Given the description of an element on the screen output the (x, y) to click on. 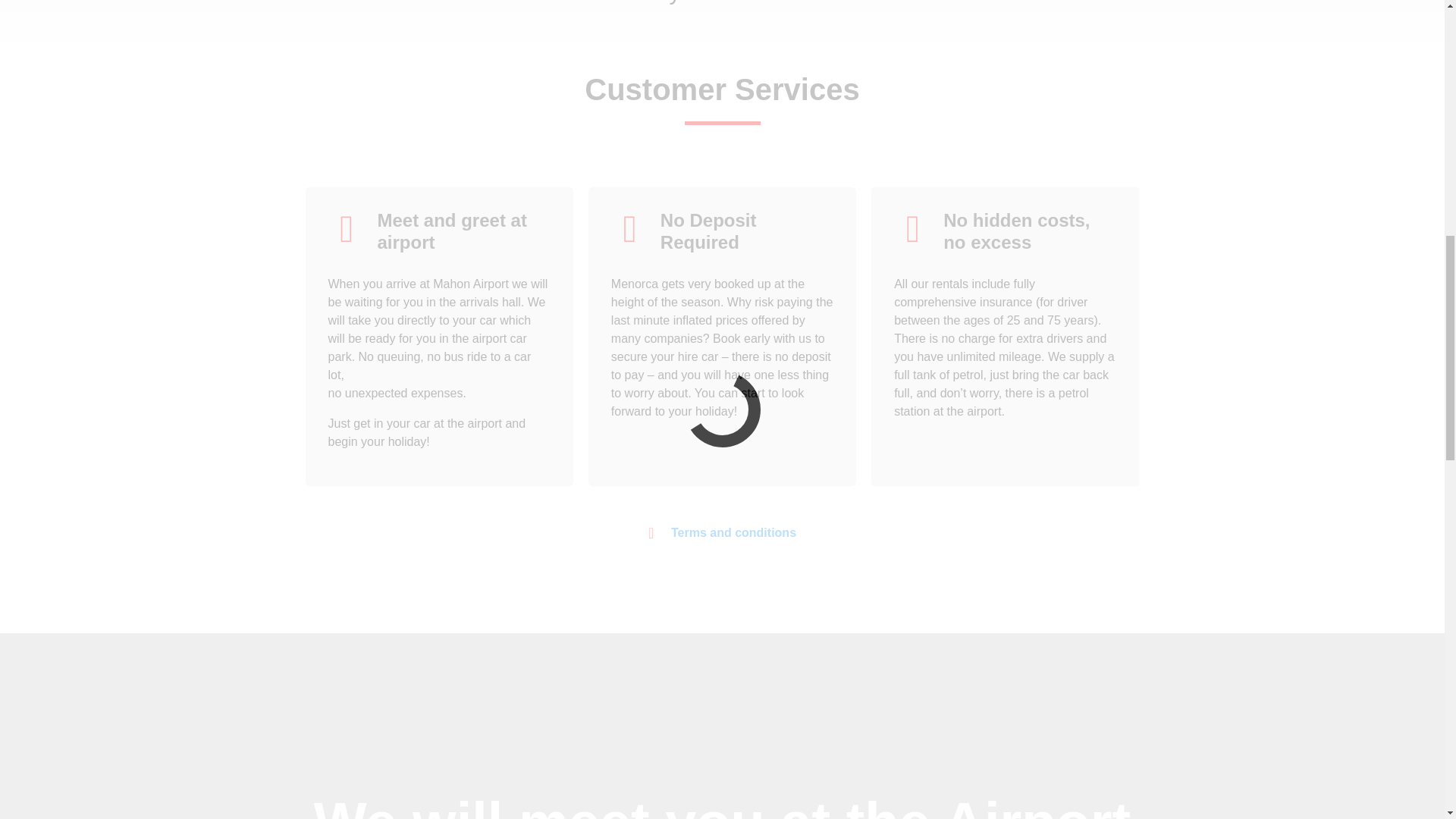
Terms and conditions (721, 533)
